Given the description of an element on the screen output the (x, y) to click on. 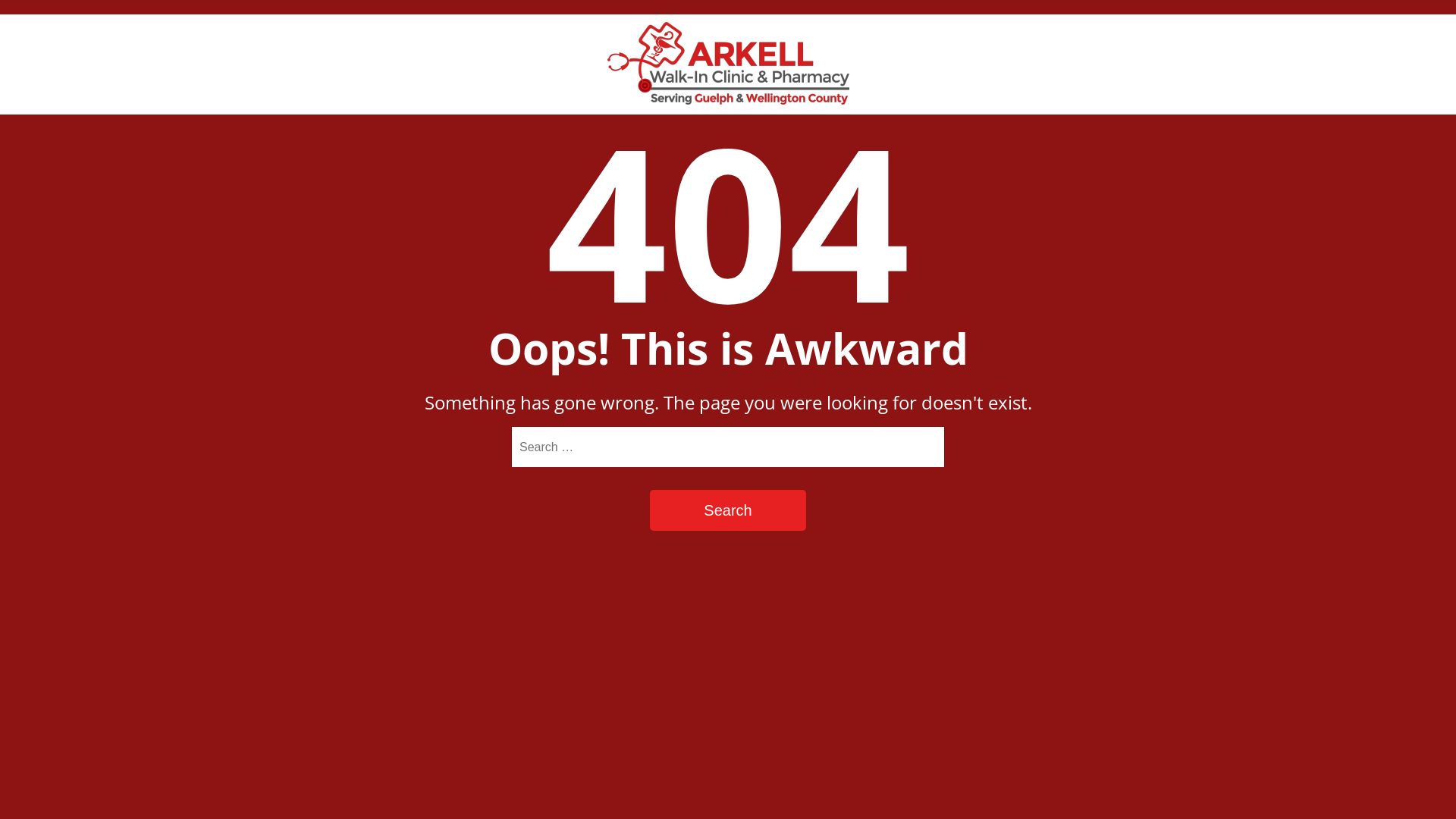
Search Element type: text (727, 509)
